Given the description of an element on the screen output the (x, y) to click on. 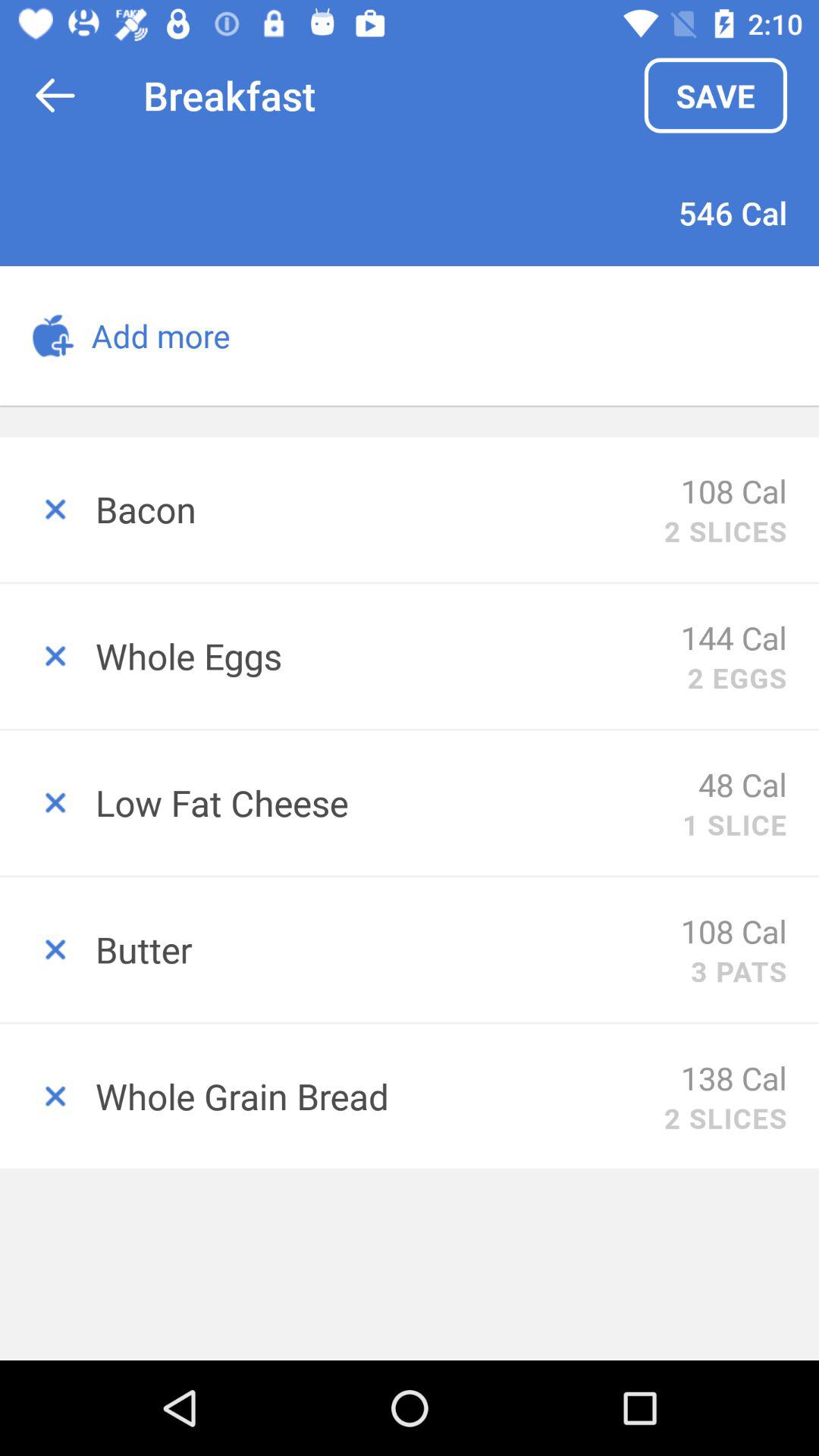
click item above the low fat cheese icon (737, 677)
